Given the description of an element on the screen output the (x, y) to click on. 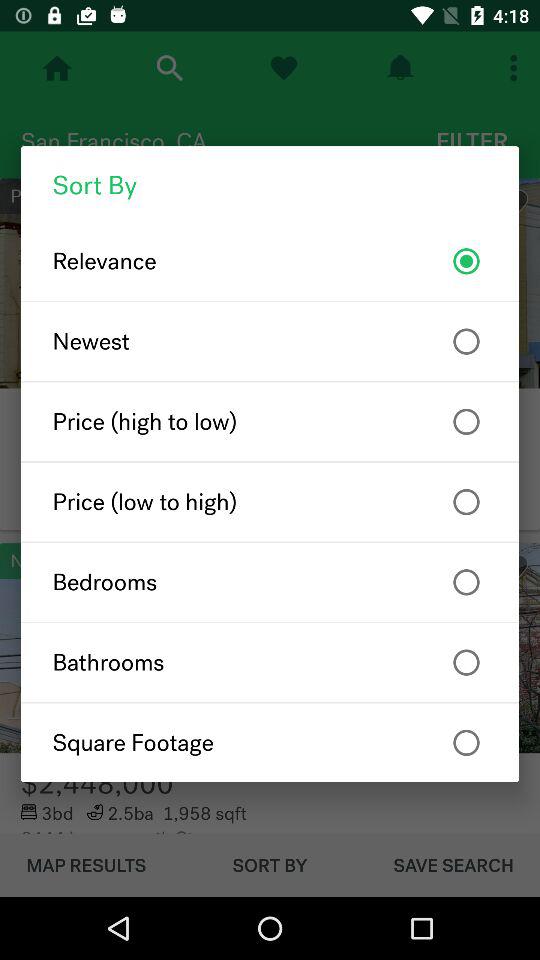
scroll until the newest (270, 341)
